Given the description of an element on the screen output the (x, y) to click on. 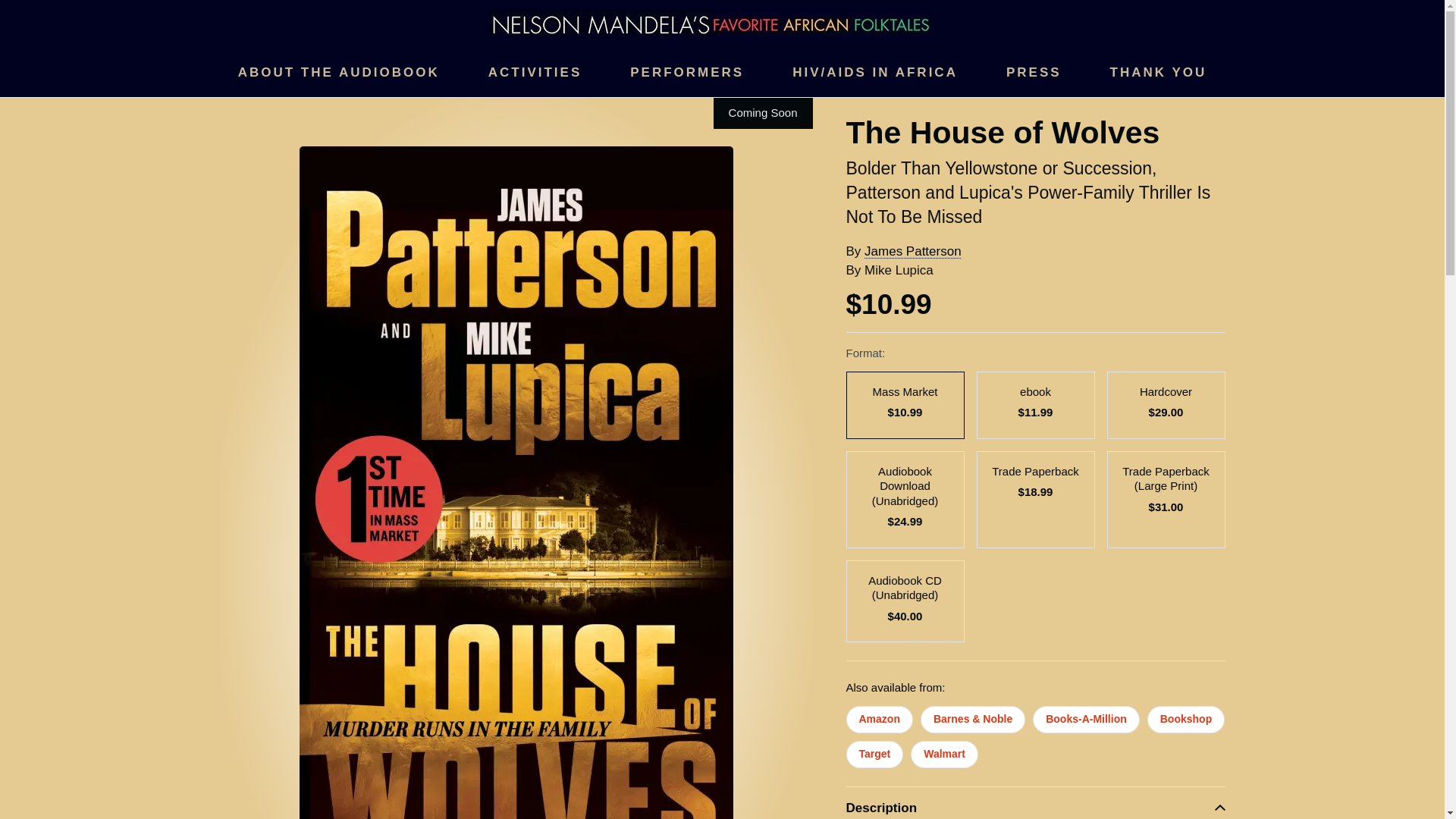
Description (1035, 803)
THANK YOU (1158, 72)
Go to Hachette Book Group home (709, 23)
Books-A-Million (1086, 719)
ACTIVITIES (534, 72)
PRESS (1033, 72)
James Patterson (912, 251)
PERFORMERS (687, 72)
Target (874, 754)
Walmart (944, 754)
ABOUT THE AUDIOBOOK (338, 72)
Bookshop (1185, 719)
Amazon (878, 719)
